Given the description of an element on the screen output the (x, y) to click on. 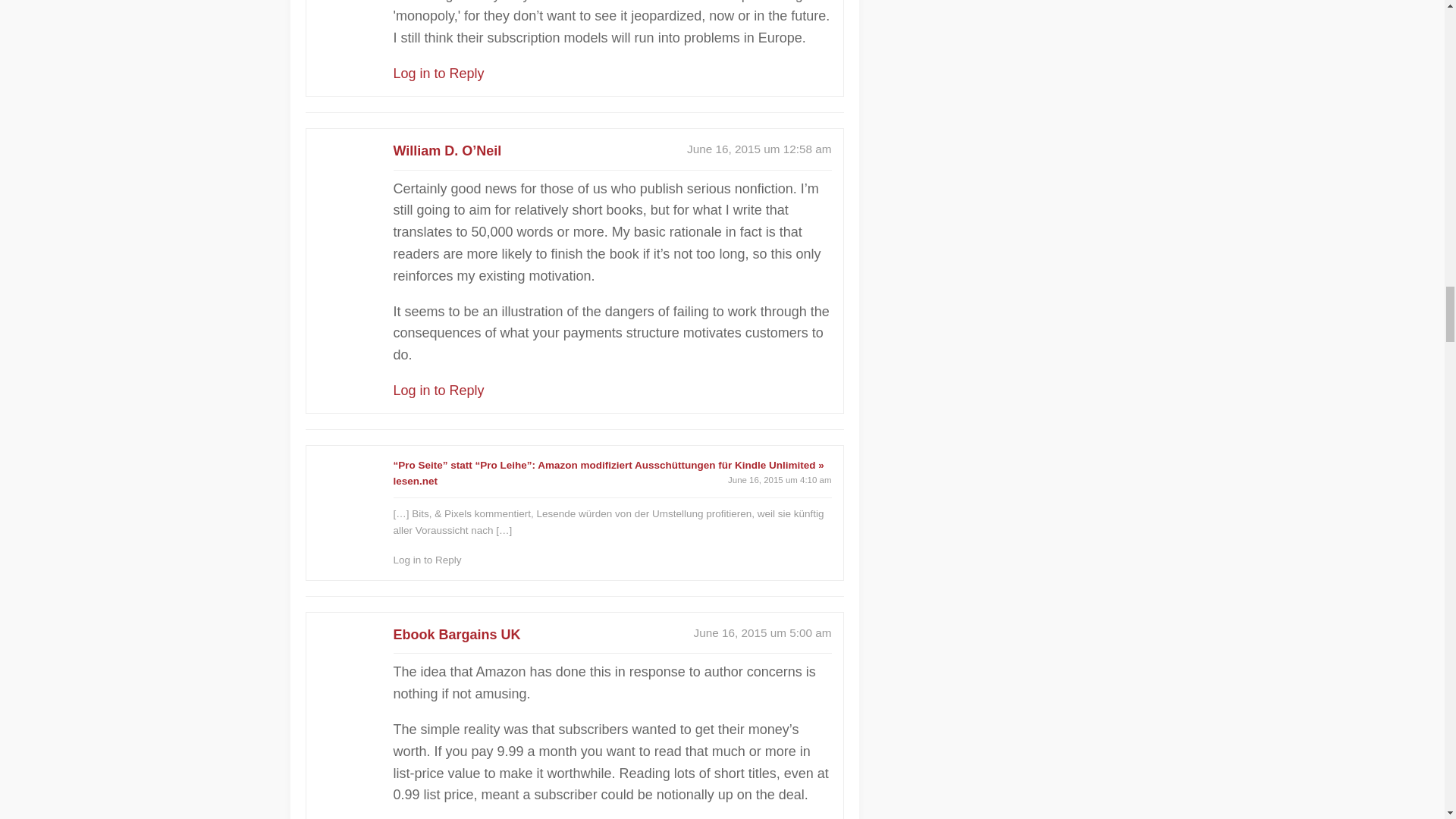
Log in to Reply (438, 73)
Log in to Reply (427, 559)
Log in to Reply (438, 390)
